Given the description of an element on the screen output the (x, y) to click on. 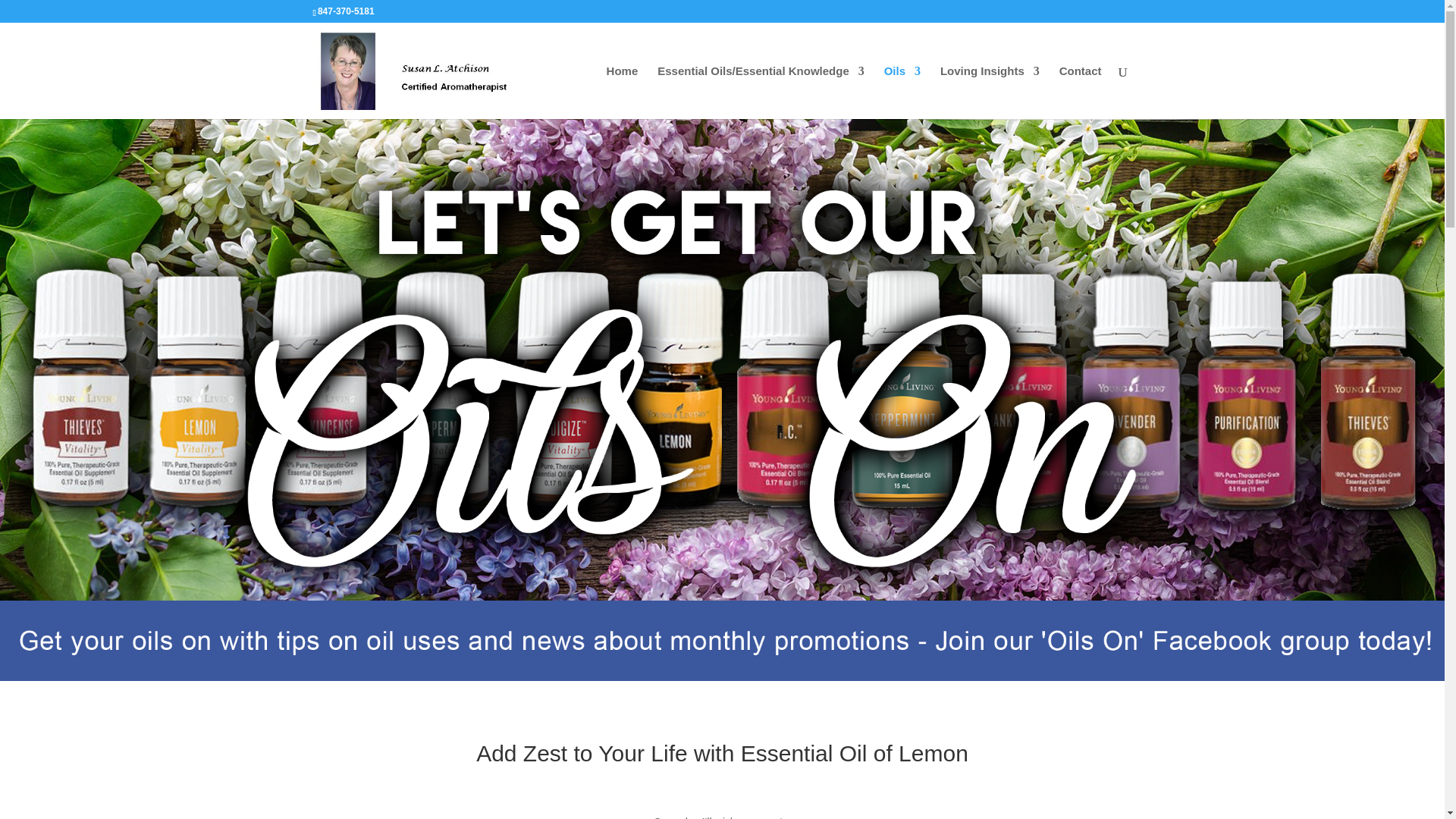
Loving Insights (989, 92)
